Given the description of an element on the screen output the (x, y) to click on. 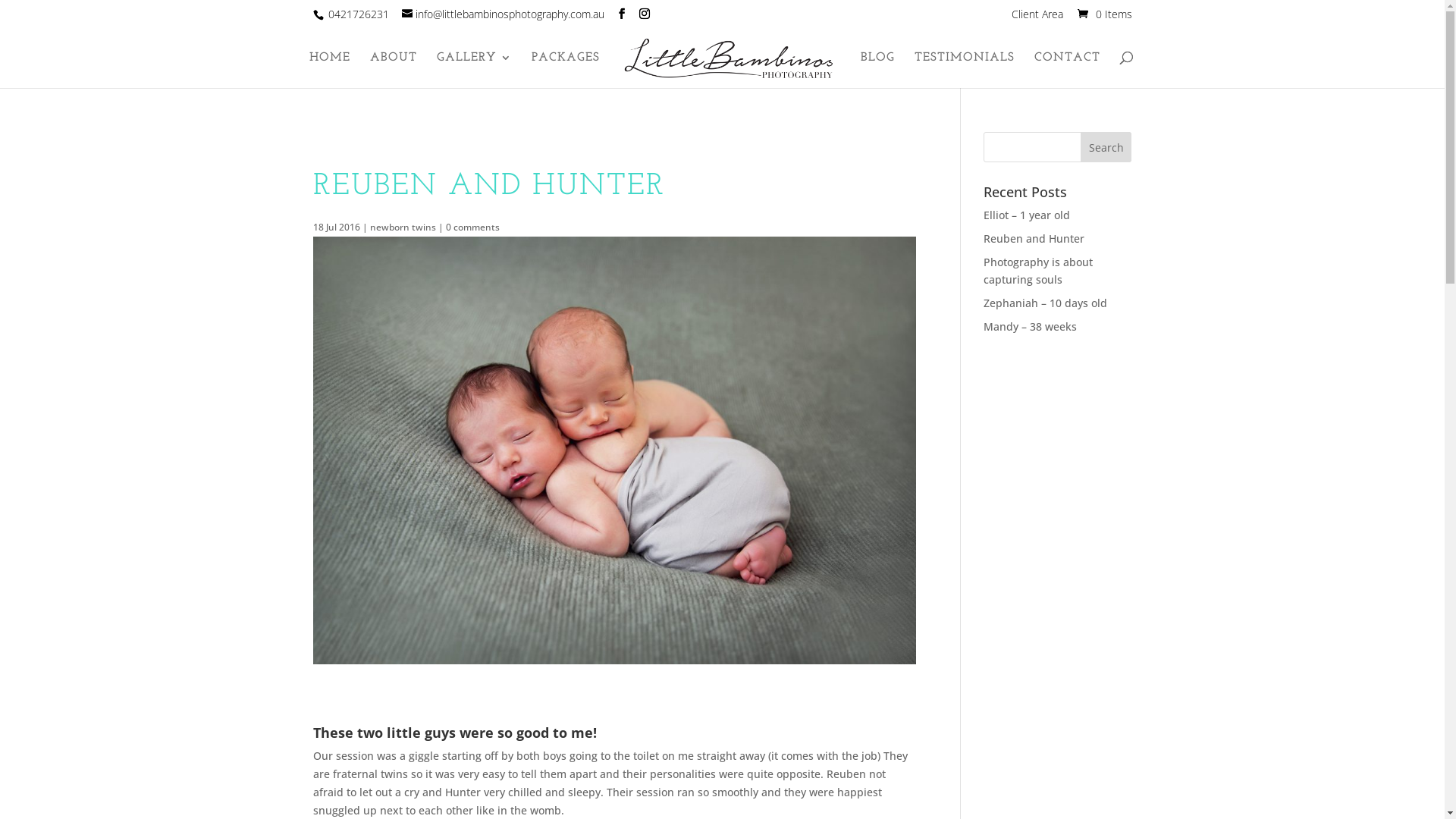
Client Area Element type: text (1037, 18)
Photography is about capturing souls Element type: text (1037, 270)
CONTACT Element type: text (1067, 69)
ABOUT Element type: text (393, 69)
BLOG Element type: text (877, 69)
TESTIMONIALS Element type: text (964, 69)
0 comments Element type: text (472, 226)
Search Element type: text (1106, 146)
Reuben and Hunter Element type: text (1033, 238)
HOME Element type: text (329, 69)
newborn twins Element type: text (403, 226)
PACKAGES Element type: text (565, 69)
GALLERY Element type: text (473, 69)
0 Items Element type: text (1102, 13)
info@littlebambinosphotography.com.au Element type: text (502, 13)
0421726231 Element type: text (357, 13)
little-bambinos-photography-reuben-and-hunter-1 Element type: hover (613, 450)
